Given the description of an element on the screen output the (x, y) to click on. 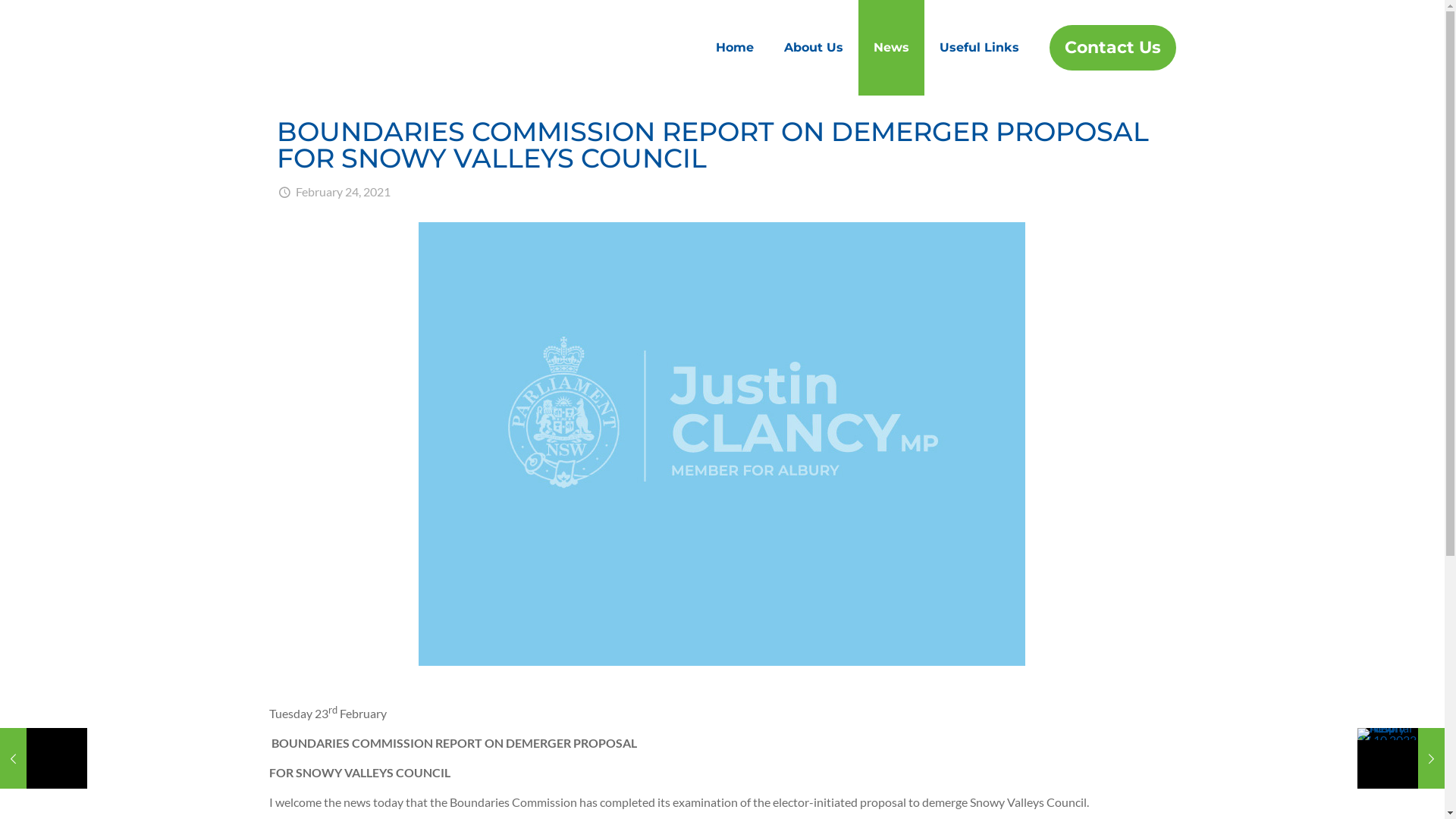
Contact Us Element type: text (1112, 47)
Home Element type: text (734, 47)
Useful Links Element type: text (979, 47)
News Element type: text (891, 47)
About Us Element type: text (813, 47)
